Given the description of an element on the screen output the (x, y) to click on. 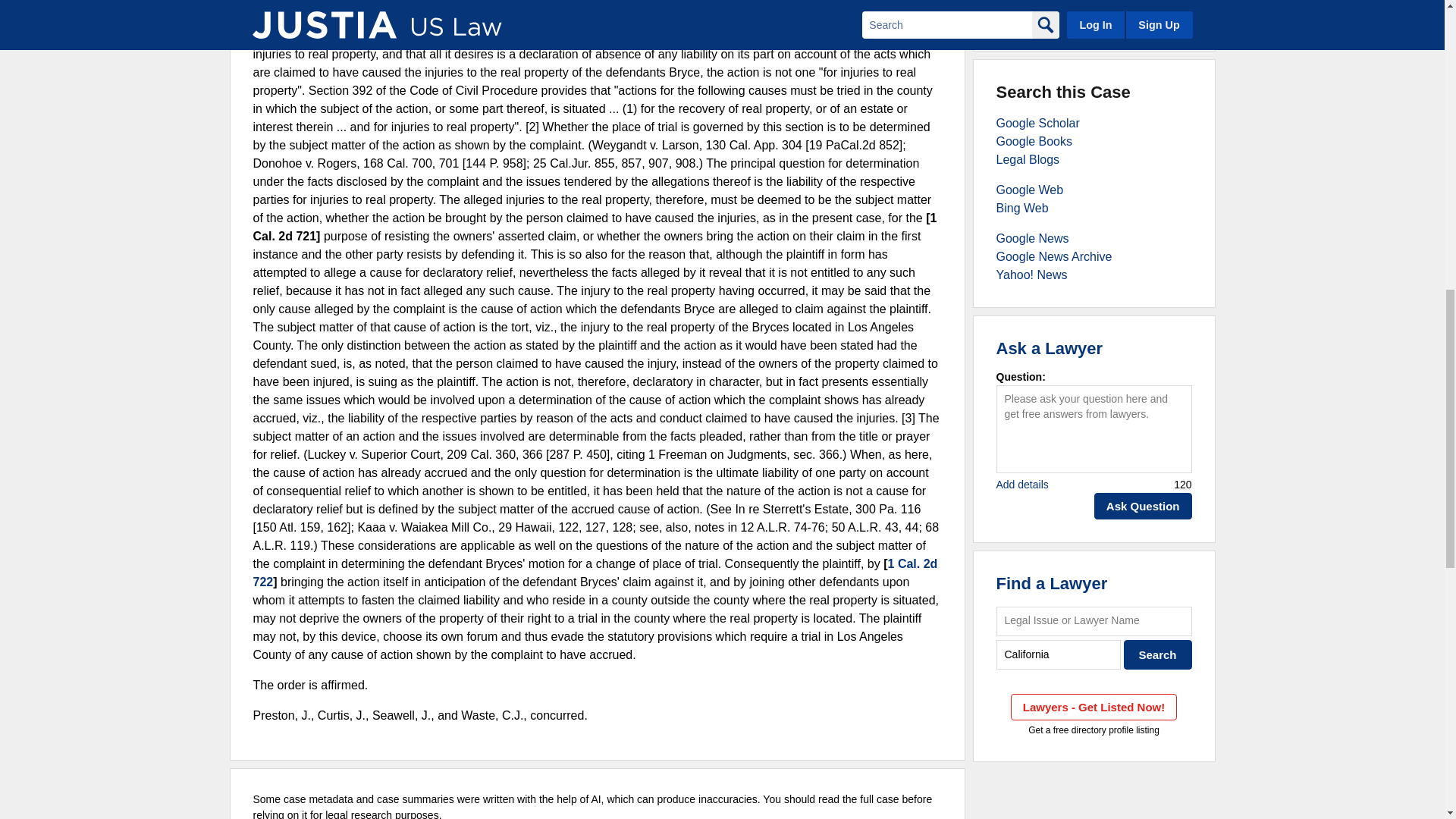
Law - Google Scholar (1037, 123)
Search (1158, 654)
Law - Google News (1031, 237)
Law - Google Books (1034, 141)
1 Cal. 2d 722 (595, 572)
Law - Google News Archive (1053, 256)
Law - Yahoo! News (1031, 274)
Law - Google Web (1029, 189)
Legal Issue or Lawyer Name (1093, 621)
Search (1158, 654)
